Given the description of an element on the screen output the (x, y) to click on. 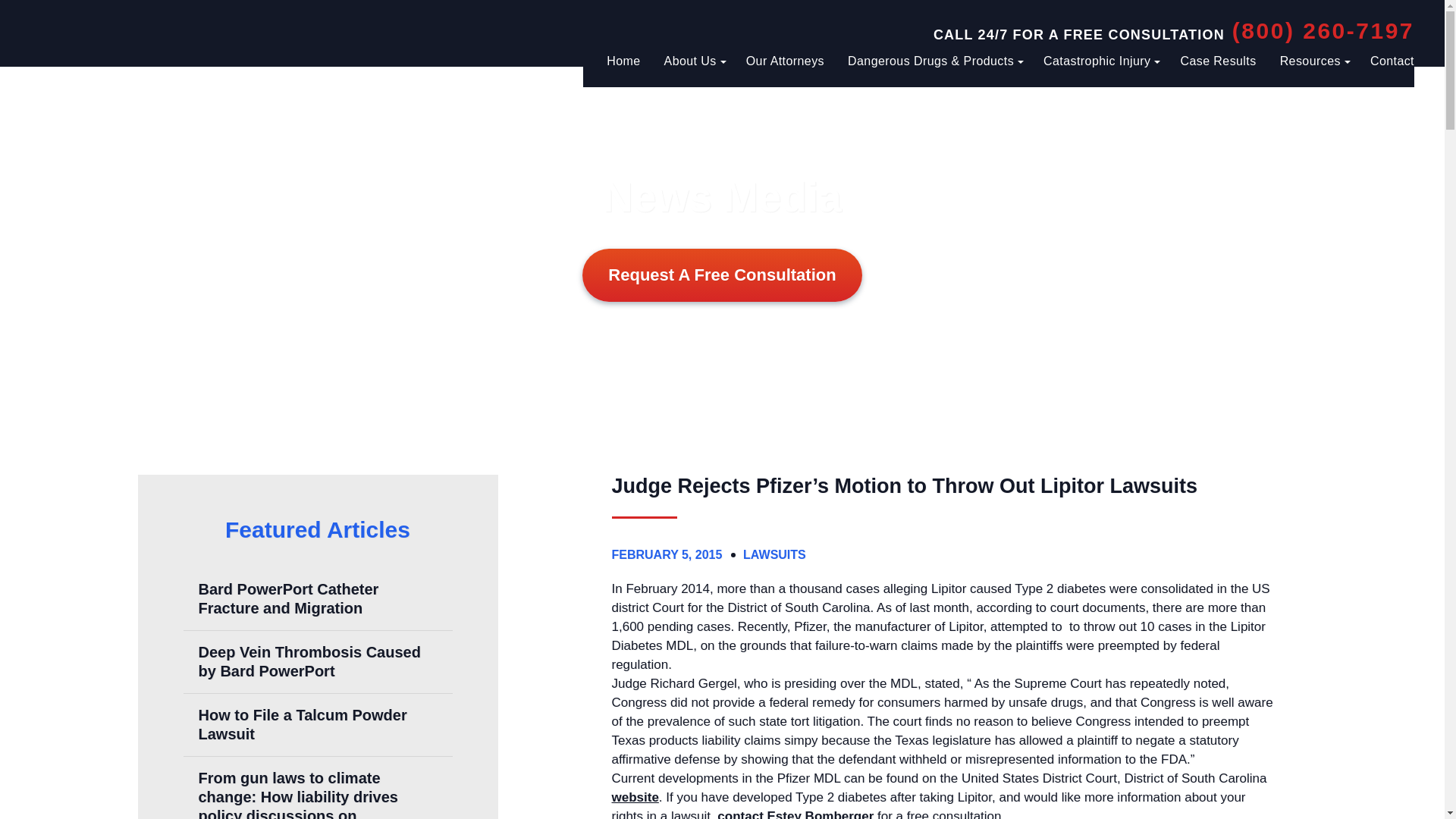
Our Attorneys (784, 60)
contact Estey Bomberger (795, 814)
About Us (692, 60)
Case Results (1217, 60)
LAWSUITS (774, 554)
Catastrophic Injury (1099, 60)
Home (623, 60)
Request A Free Consultation (721, 275)
Resources (1312, 60)
Contact (1391, 60)
website (634, 797)
